Given the description of an element on the screen output the (x, y) to click on. 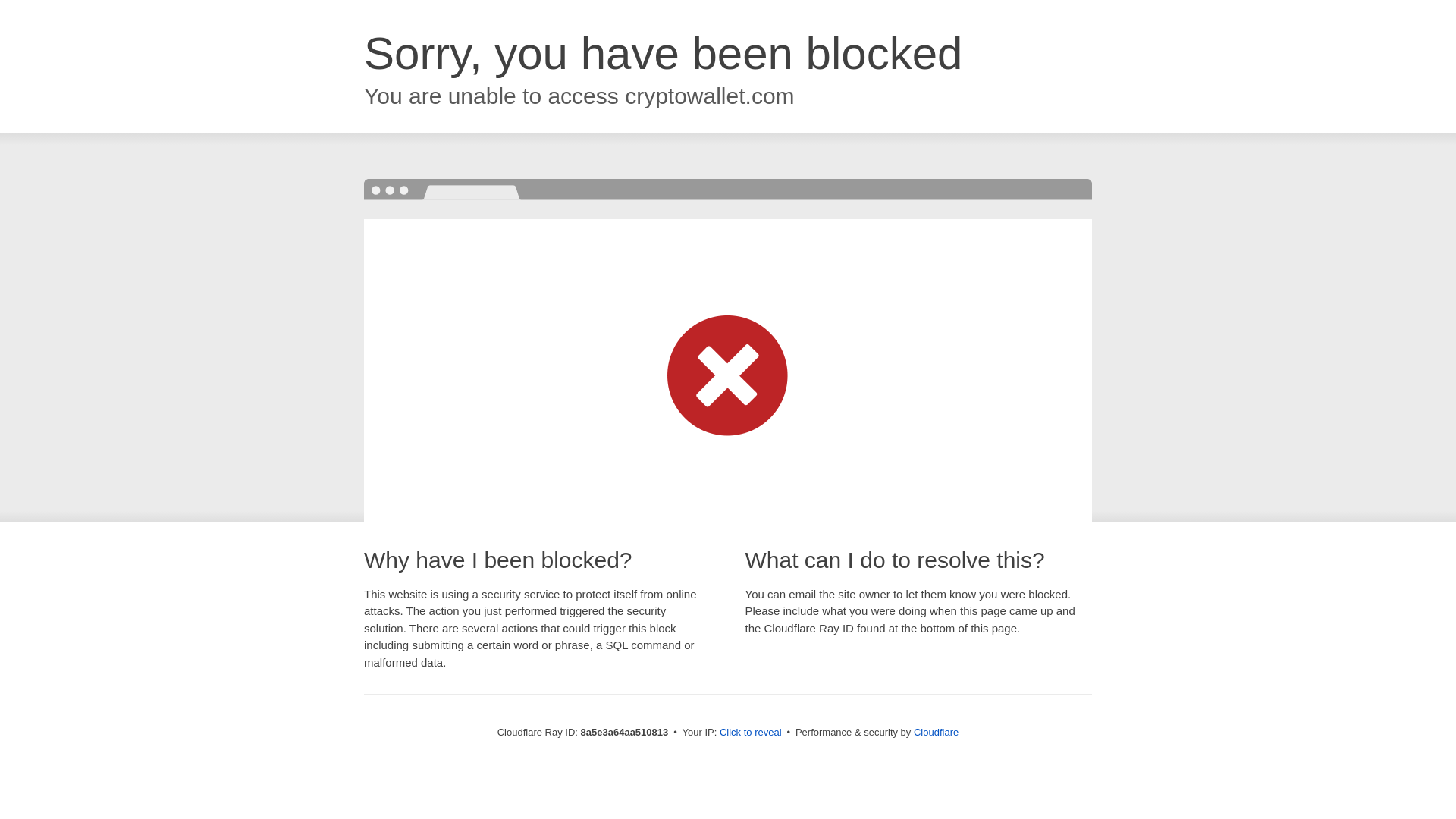
Click to reveal (750, 732)
Cloudflare (936, 731)
